Given the description of an element on the screen output the (x, y) to click on. 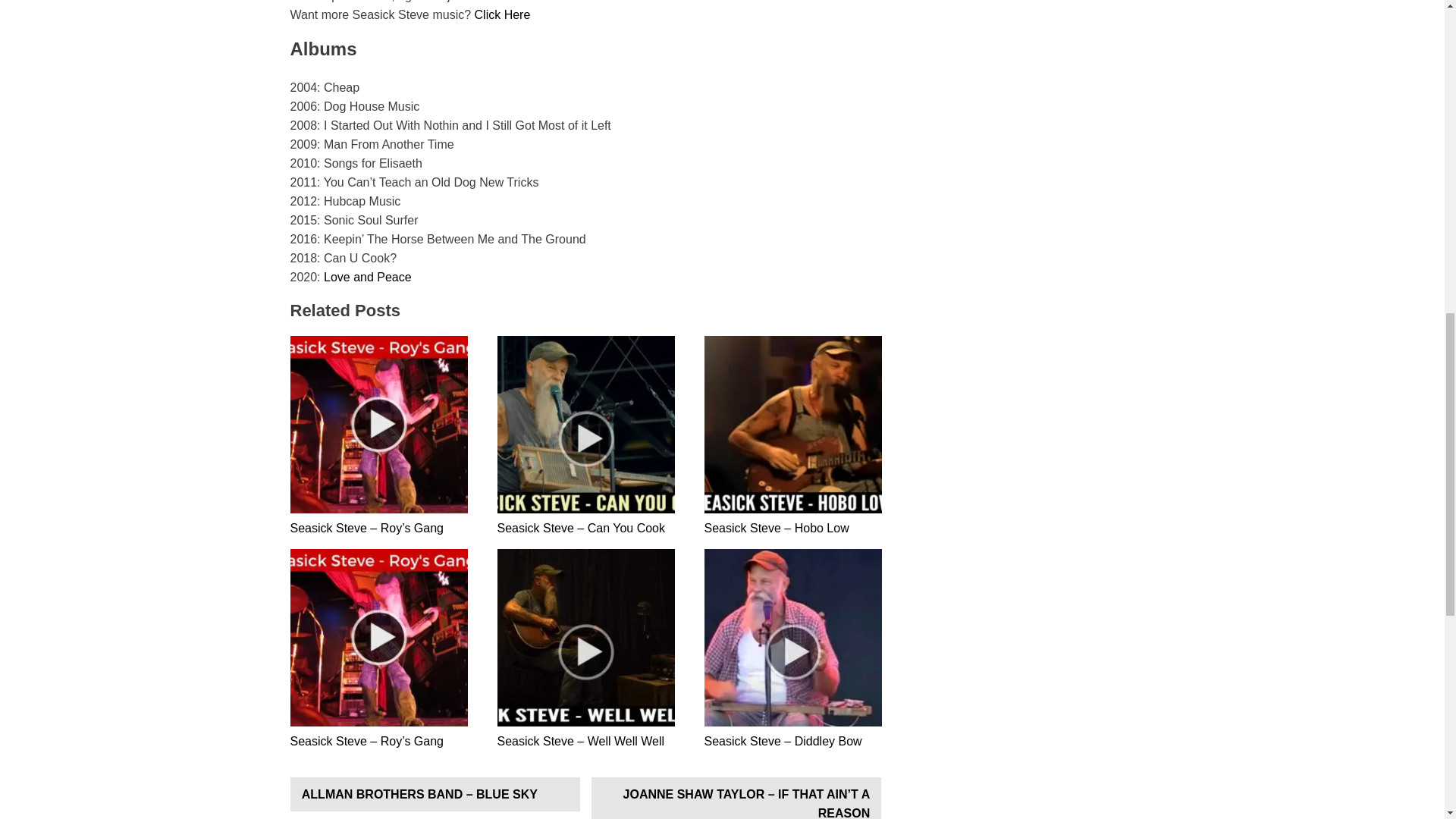
Love and Peace (367, 277)
Click Here (502, 14)
